Given the description of an element on the screen output the (x, y) to click on. 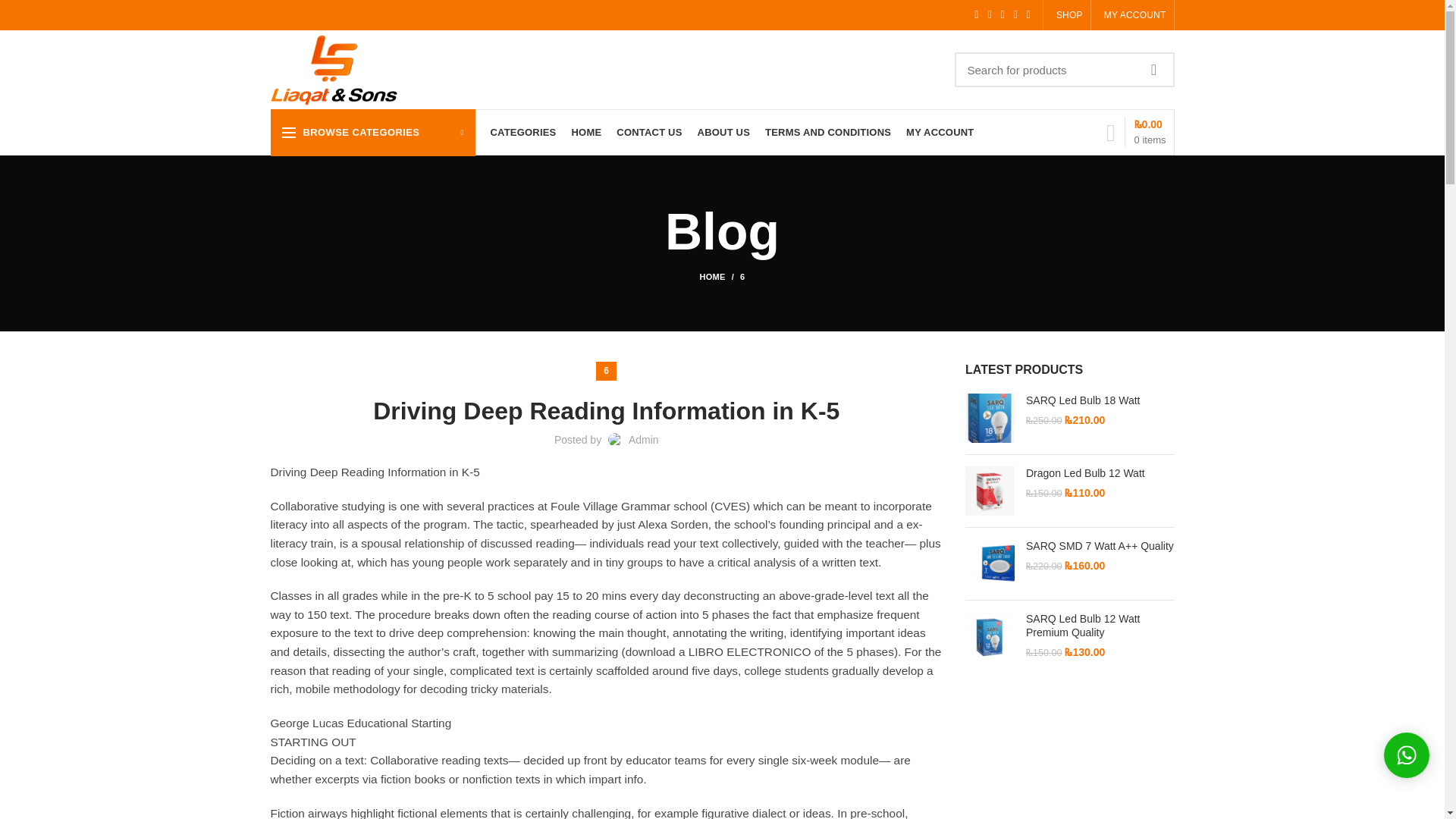
Dragon Led Bulb 12 Watt (989, 490)
SARQ Led Bulb 18 Watt (1100, 400)
Dragon Led Bulb 12 Watt (1100, 472)
SHOP (1066, 15)
SARQ Led Bulb 18 Watt (989, 418)
Shopping cart (1136, 131)
SEARCH (1153, 69)
MY ACCOUNT (1131, 15)
